Given the description of an element on the screen output the (x, y) to click on. 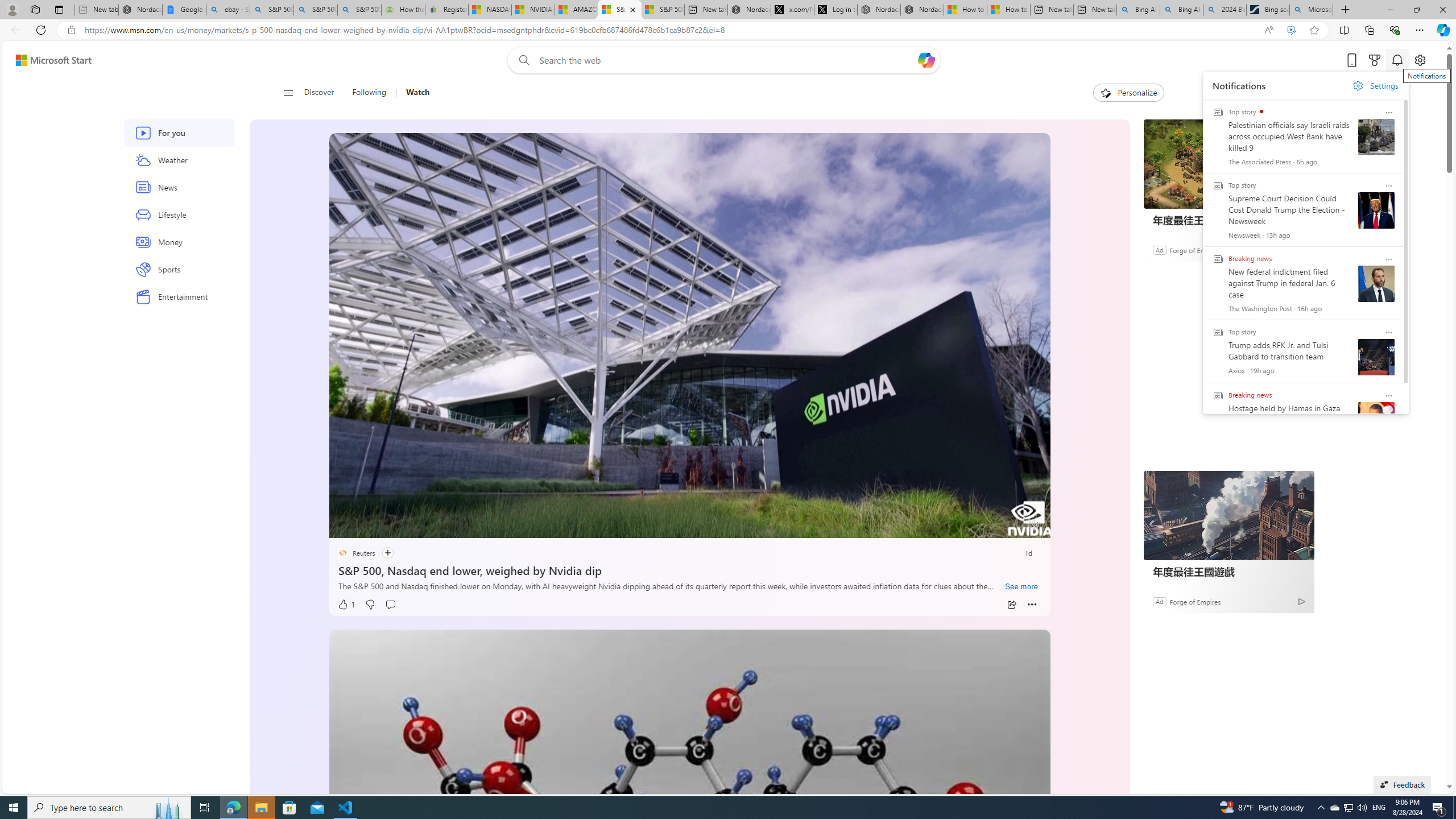
Progress Bar (689, 510)
Open settings (1420, 60)
Fullscreen (1011, 525)
Log in to X / X (835, 9)
Share (1010, 604)
Seek Forward (391, 525)
placeholder Reuters (355, 552)
Pause (346, 525)
